Given the description of an element on the screen output the (x, y) to click on. 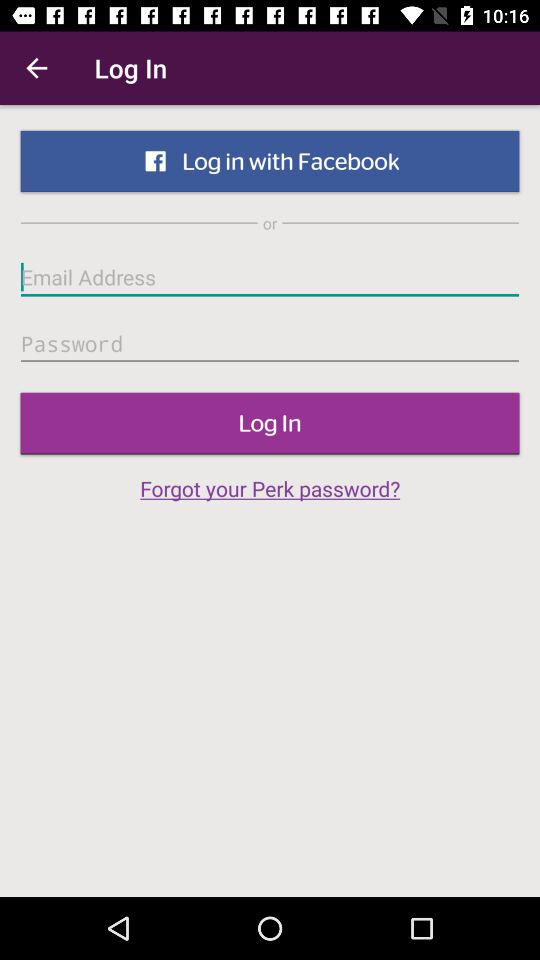
open item below log in icon (270, 488)
